Given the description of an element on the screen output the (x, y) to click on. 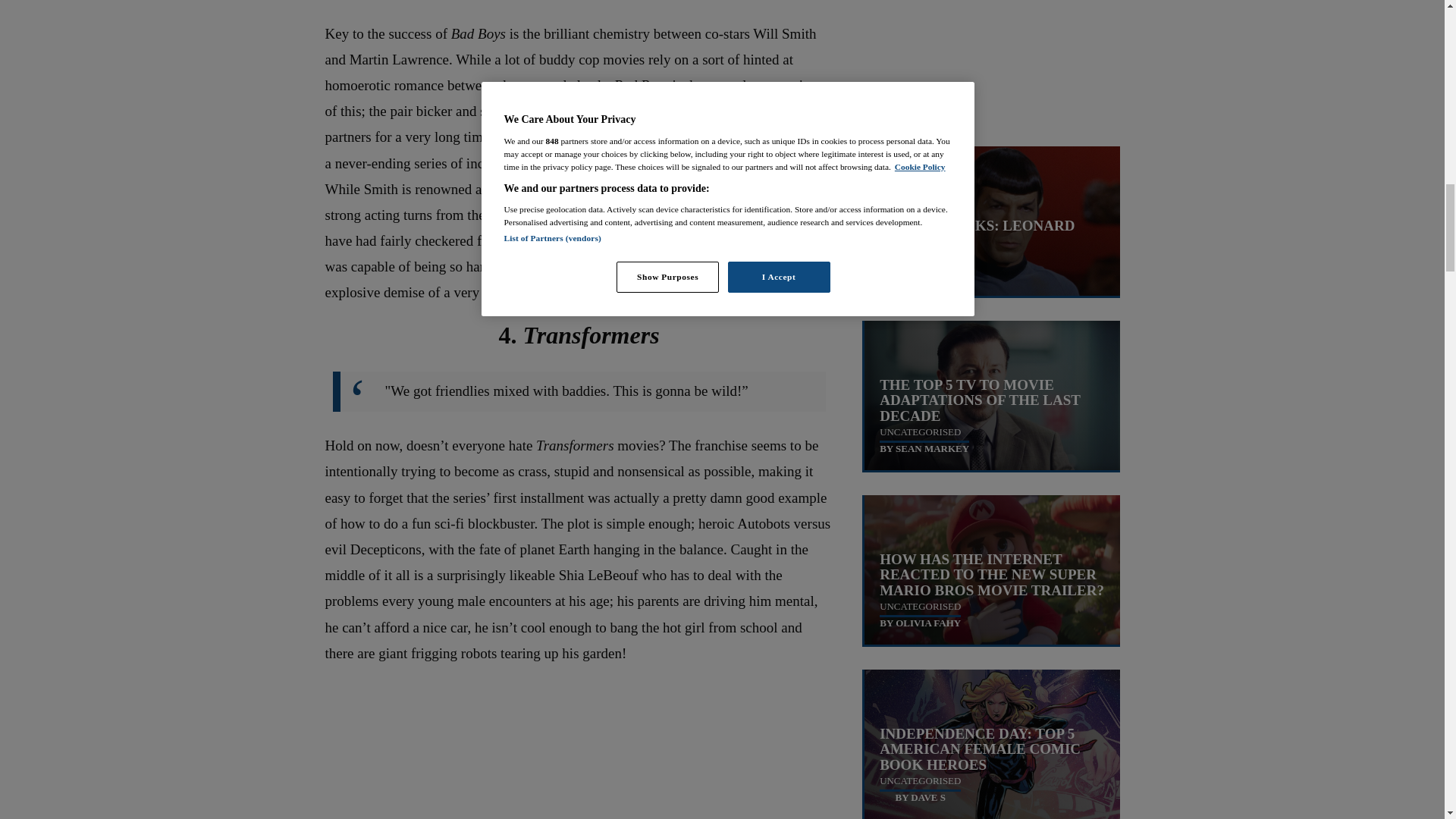
Bad Boys - Trailer (578, 3)
